Given the description of an element on the screen output the (x, y) to click on. 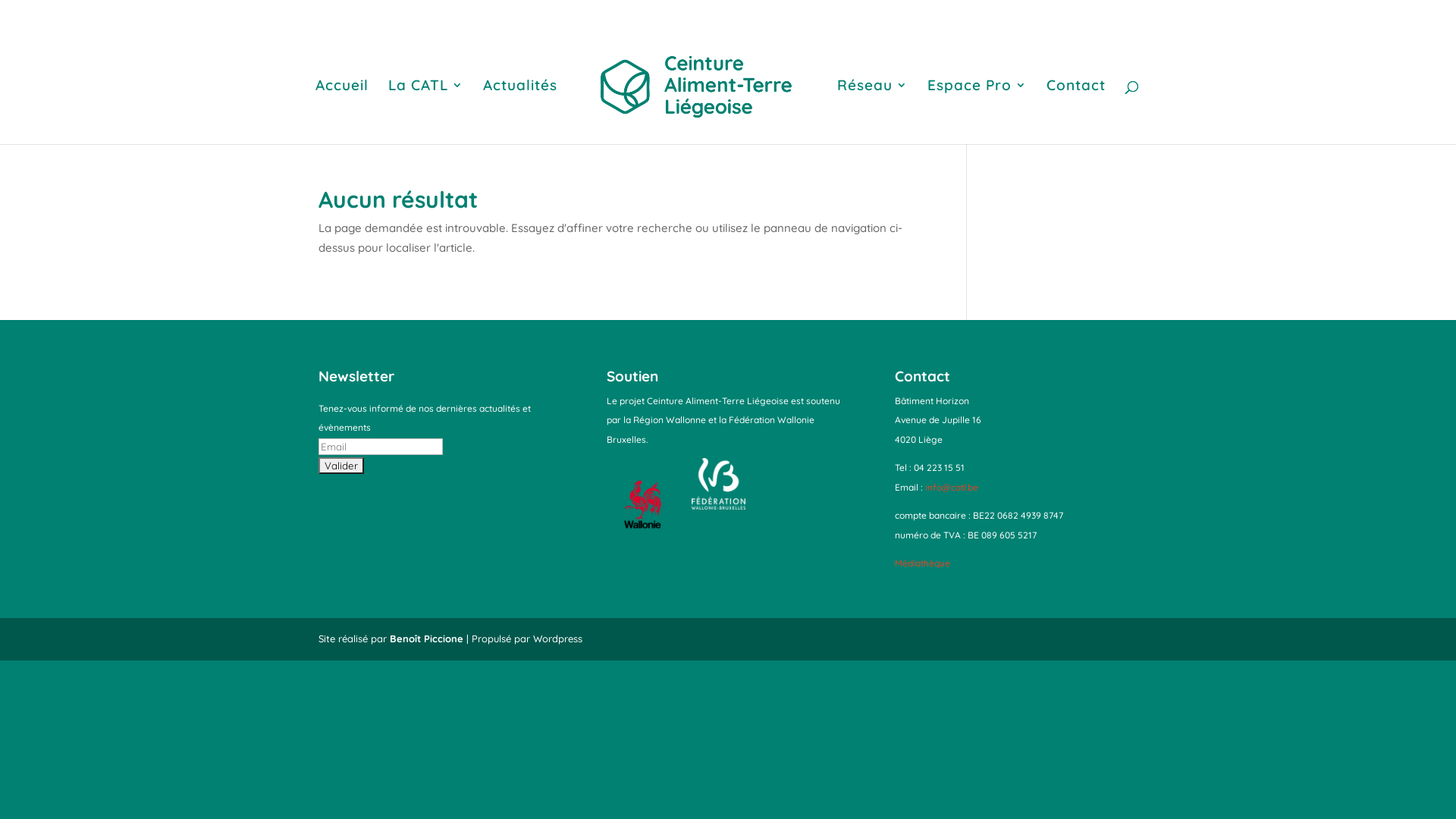
Contact Element type: text (1075, 111)
info@catl.be Element type: text (950, 486)
Accueil Element type: text (341, 111)
La CATL Element type: text (425, 111)
Espace Pro Element type: text (976, 111)
Valider Element type: text (341, 465)
